Given the description of an element on the screen output the (x, y) to click on. 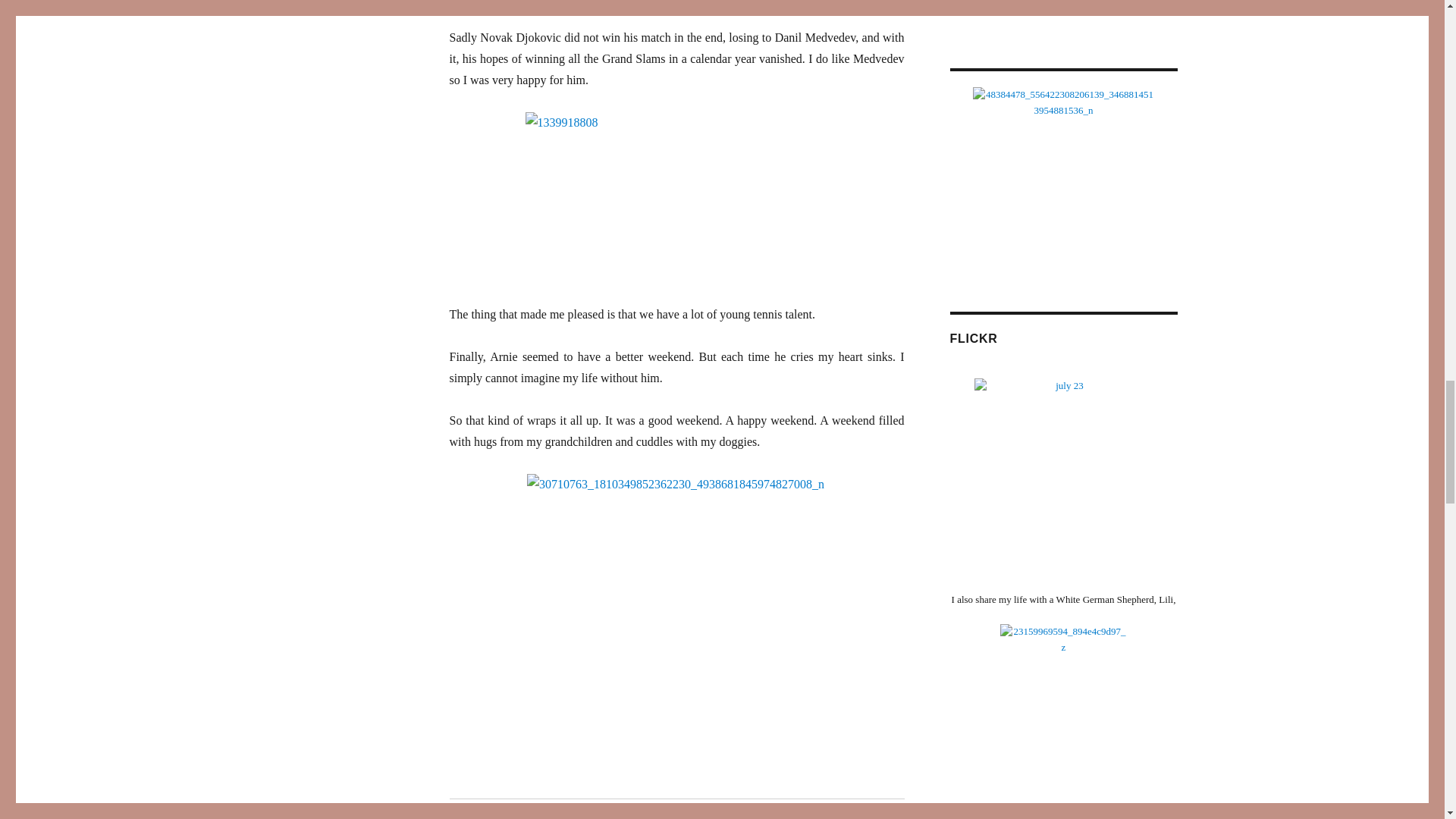
1339918808 (676, 197)
